Given the description of an element on the screen output the (x, y) to click on. 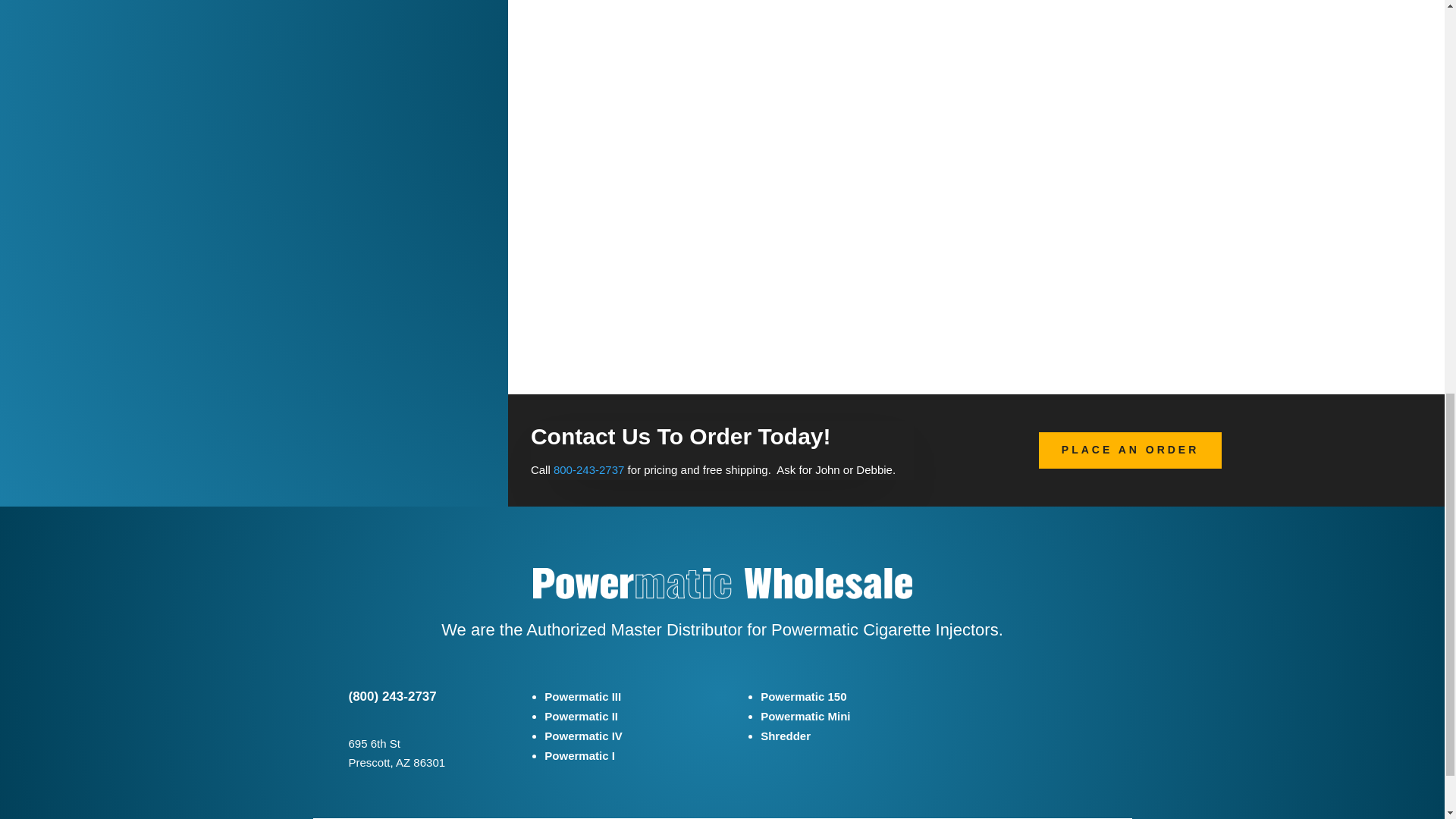
Powermatic 150 (802, 696)
Powermatic Mini (805, 716)
Powermatic II (580, 716)
Powermatic III (582, 696)
800-243-2737 (588, 469)
PLACE AN ORDER (1131, 450)
Powermatic I (579, 755)
Shredder (785, 735)
Powermatic IV (583, 735)
